Given the description of an element on the screen output the (x, y) to click on. 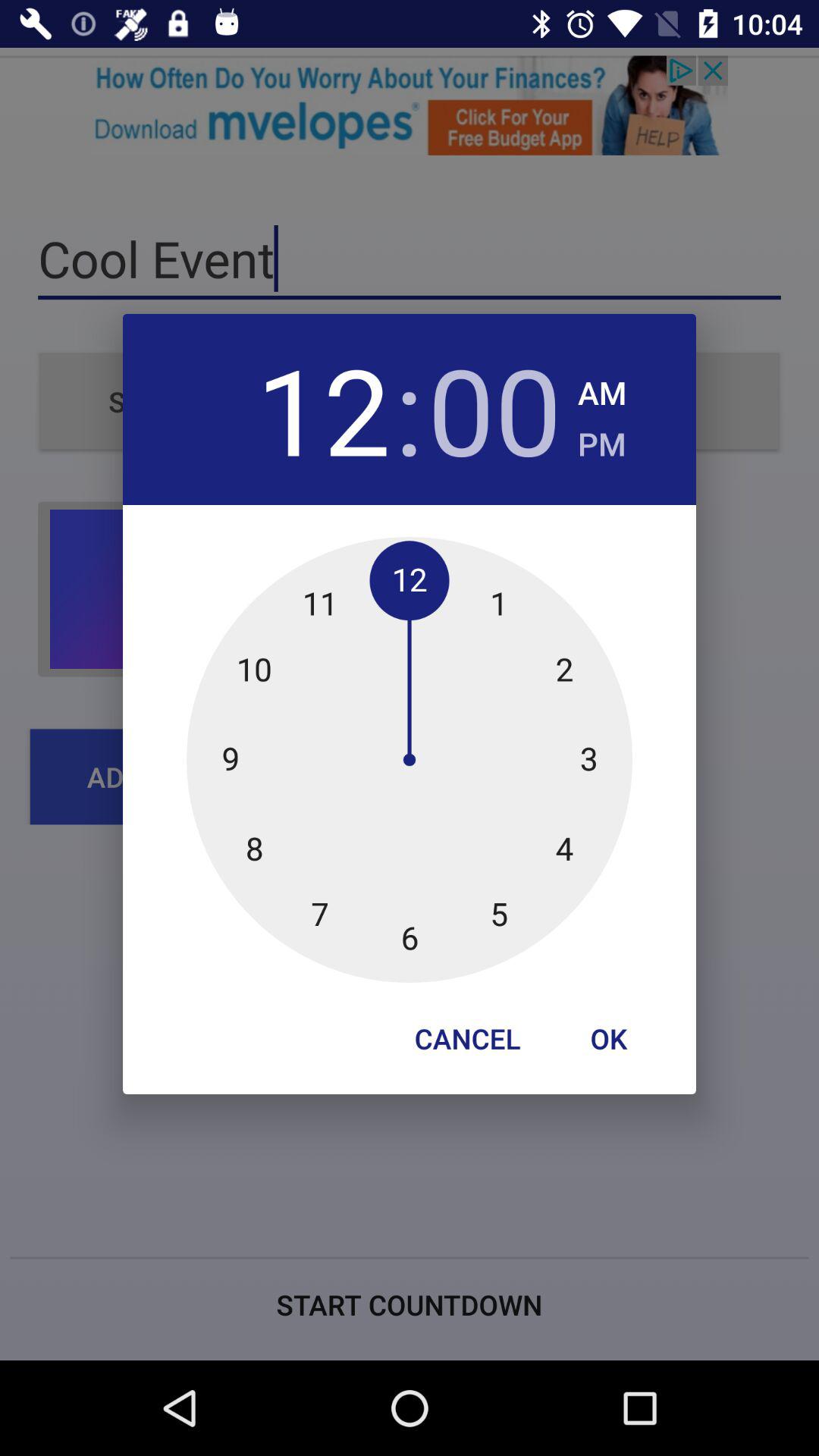
jump to the pm icon (601, 439)
